Given the description of an element on the screen output the (x, y) to click on. 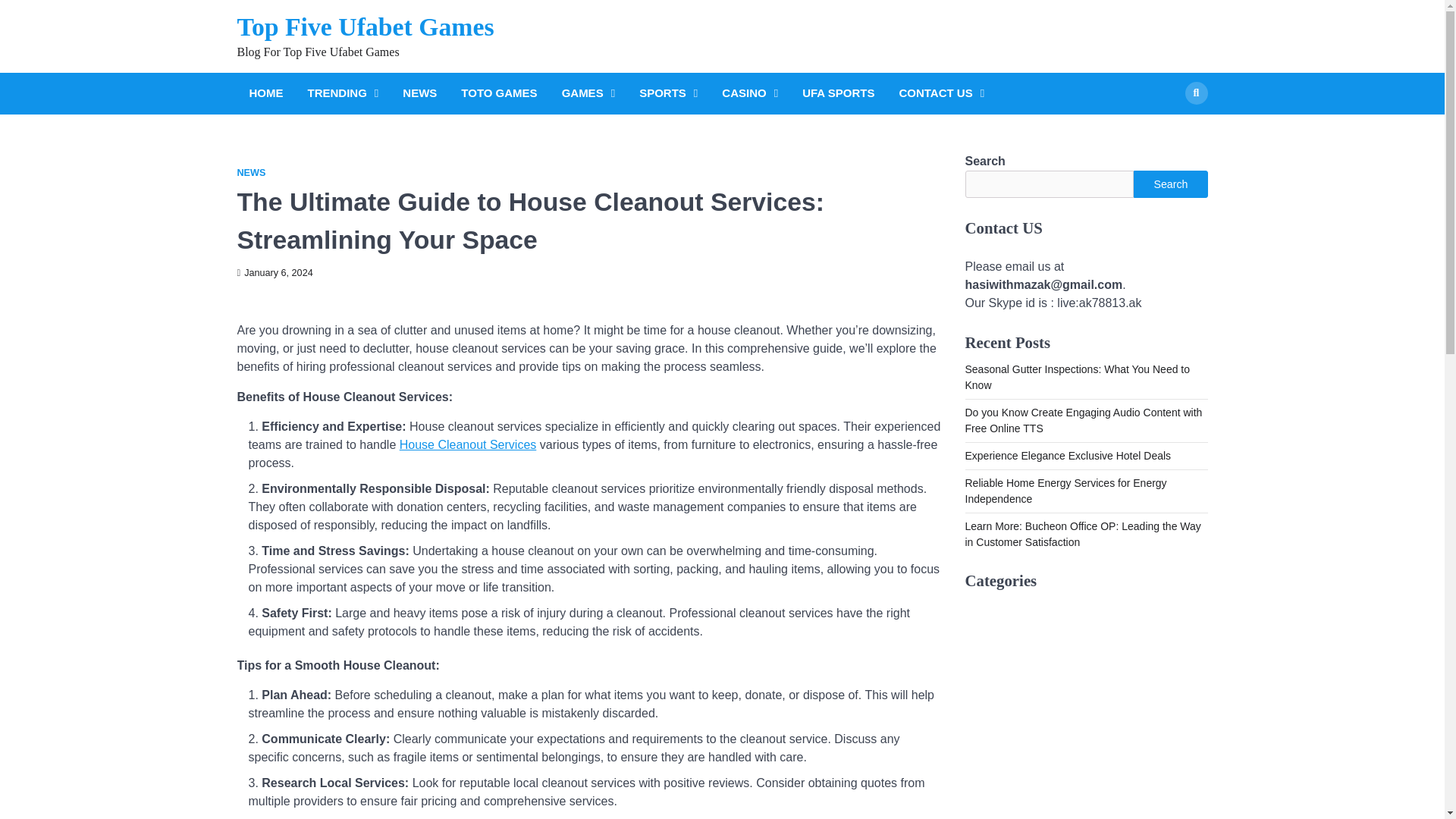
TOTO GAMES (498, 93)
NEWS (249, 173)
SPORTS (668, 93)
House Cleanout Services (467, 444)
GAMES (588, 93)
Search (1170, 184)
Top Five Ufabet Games (364, 26)
CASINO (750, 93)
Search (1168, 128)
